Given the description of an element on the screen output the (x, y) to click on. 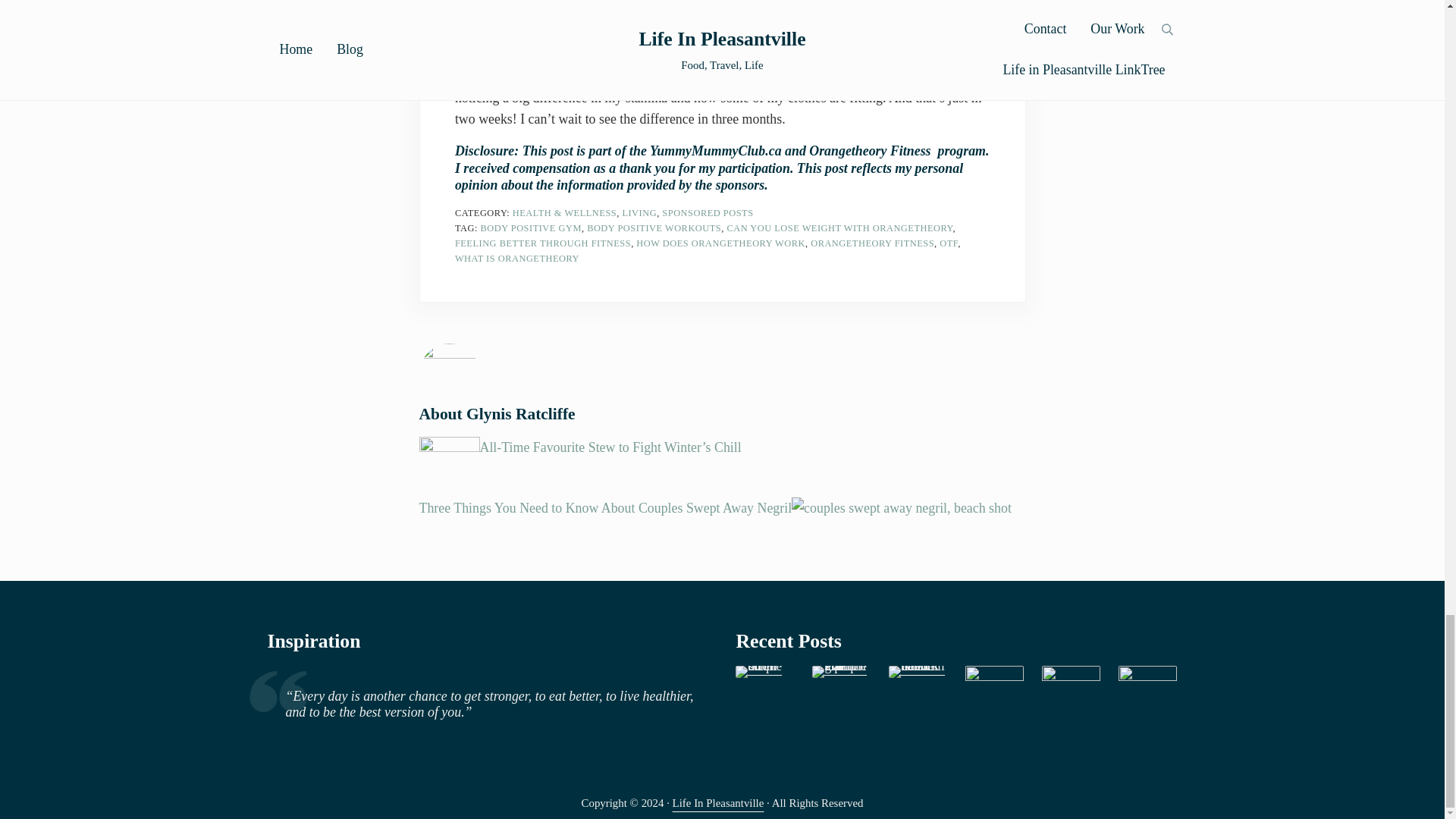
WHAT IS ORANGETHEORY (516, 258)
BODY POSITIVE GYM (530, 227)
HOW DOES ORANGETHEORY WORK (720, 243)
SPONSORED POSTS (707, 213)
CAN YOU LOSE WEIGHT WITH ORANGETHEORY (839, 227)
BODY POSITIVE WORKOUTS (653, 227)
LIVING (638, 213)
OTF (948, 243)
FEELING BETTER THROUGH FITNESS (542, 243)
